Given the description of an element on the screen output the (x, y) to click on. 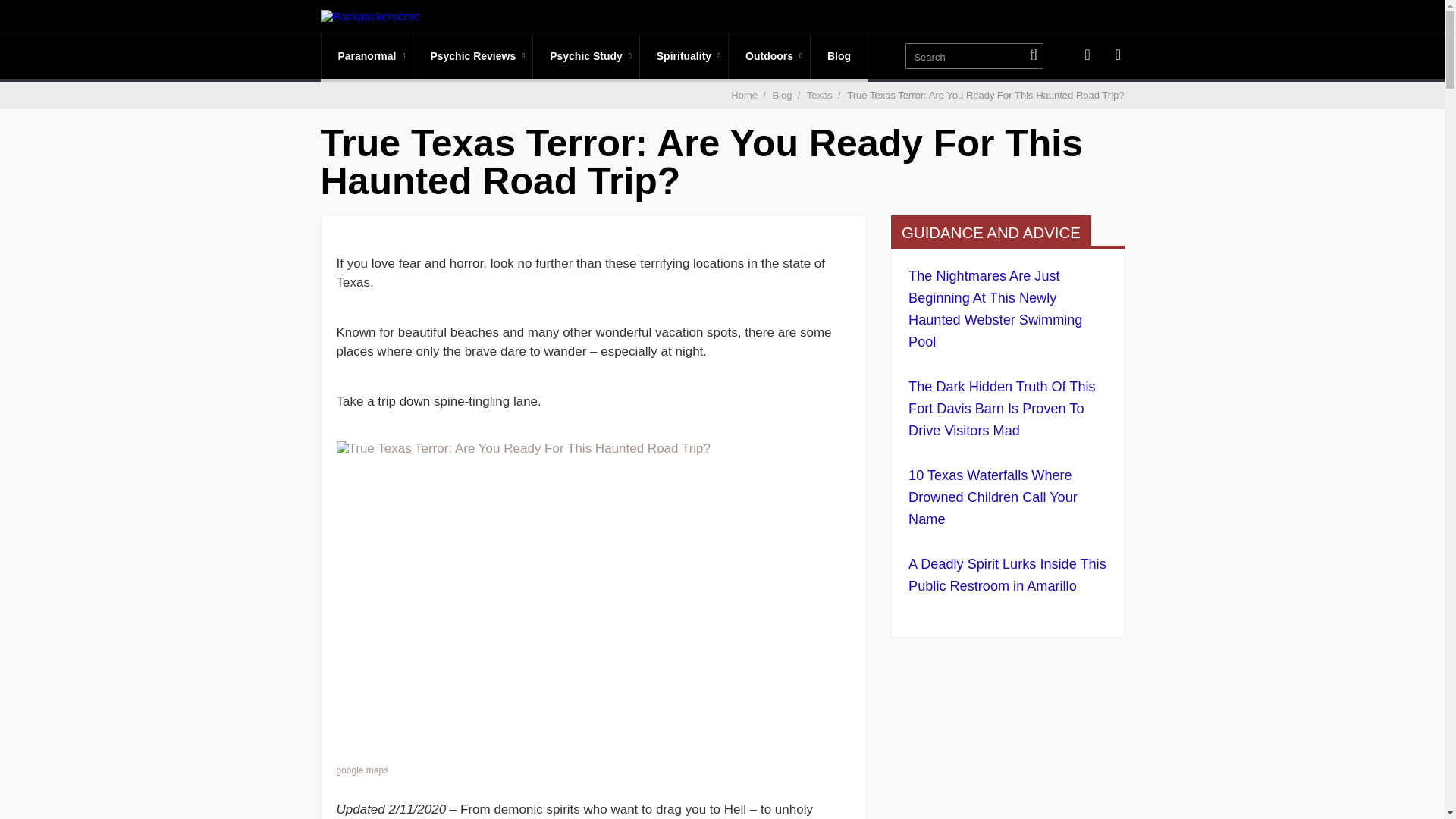
Paranormal (367, 55)
Psychic Study (585, 55)
Psychic Reviews (472, 55)
